Given the description of an element on the screen output the (x, y) to click on. 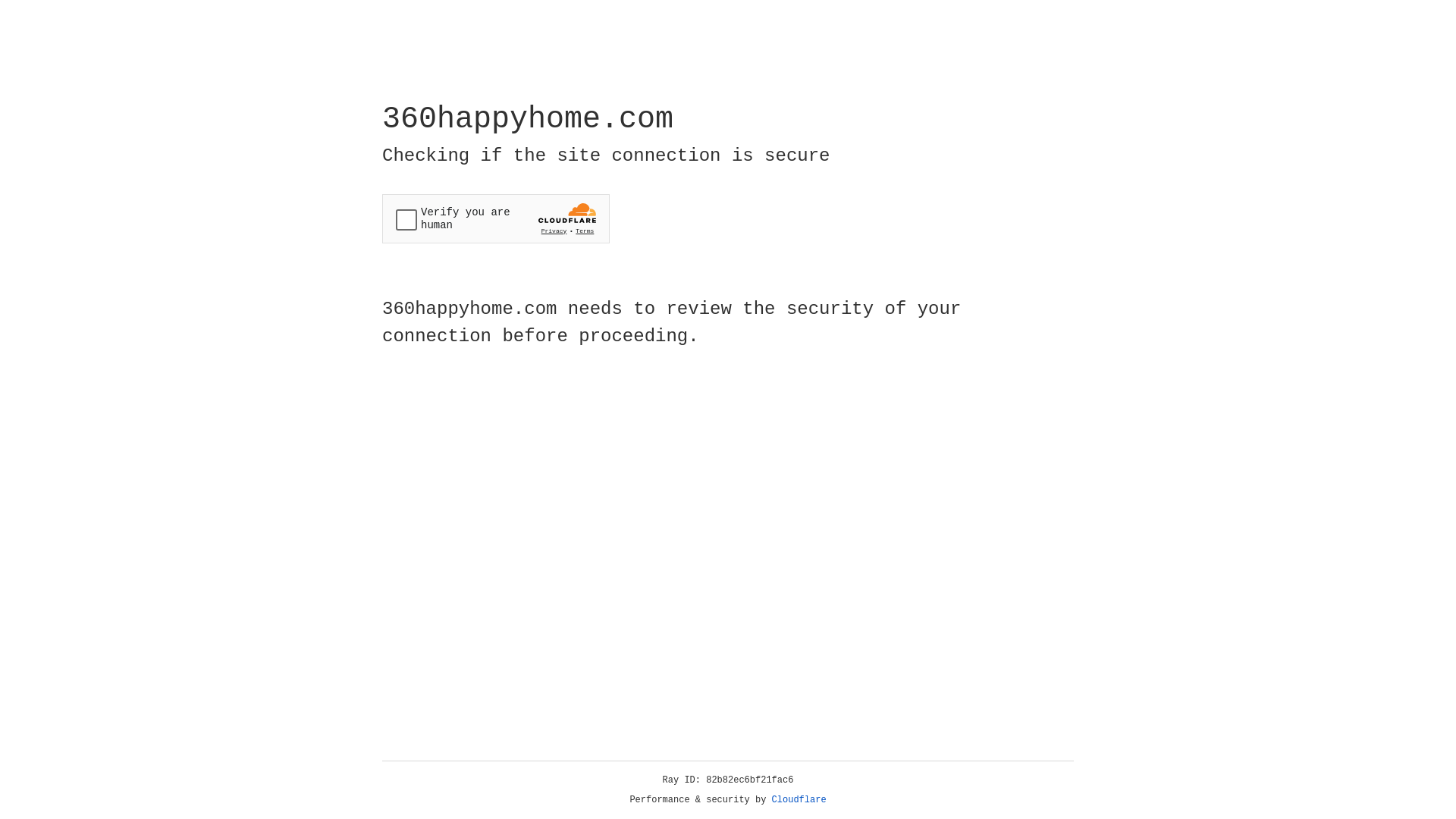
Cloudflare Element type: text (798, 799)
Widget containing a Cloudflare security challenge Element type: hover (495, 218)
